Given the description of an element on the screen output the (x, y) to click on. 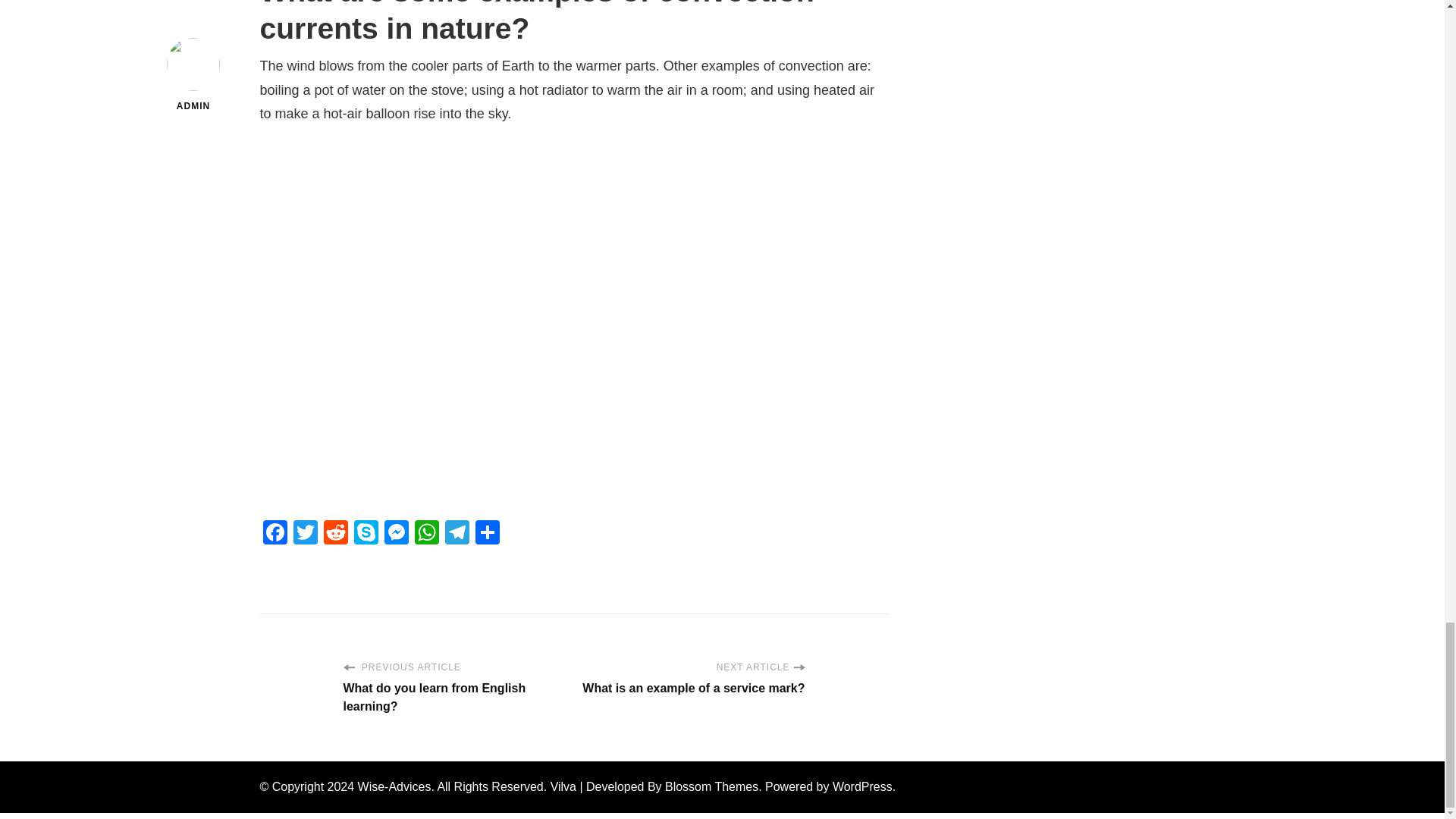
Telegram (456, 533)
WhatsApp (425, 533)
Skype (365, 533)
Telegram (456, 533)
Messenger (395, 533)
WhatsApp (425, 533)
Skype (365, 533)
Facebook (274, 533)
Share (486, 533)
Reddit (335, 533)
